Given the description of an element on the screen output the (x, y) to click on. 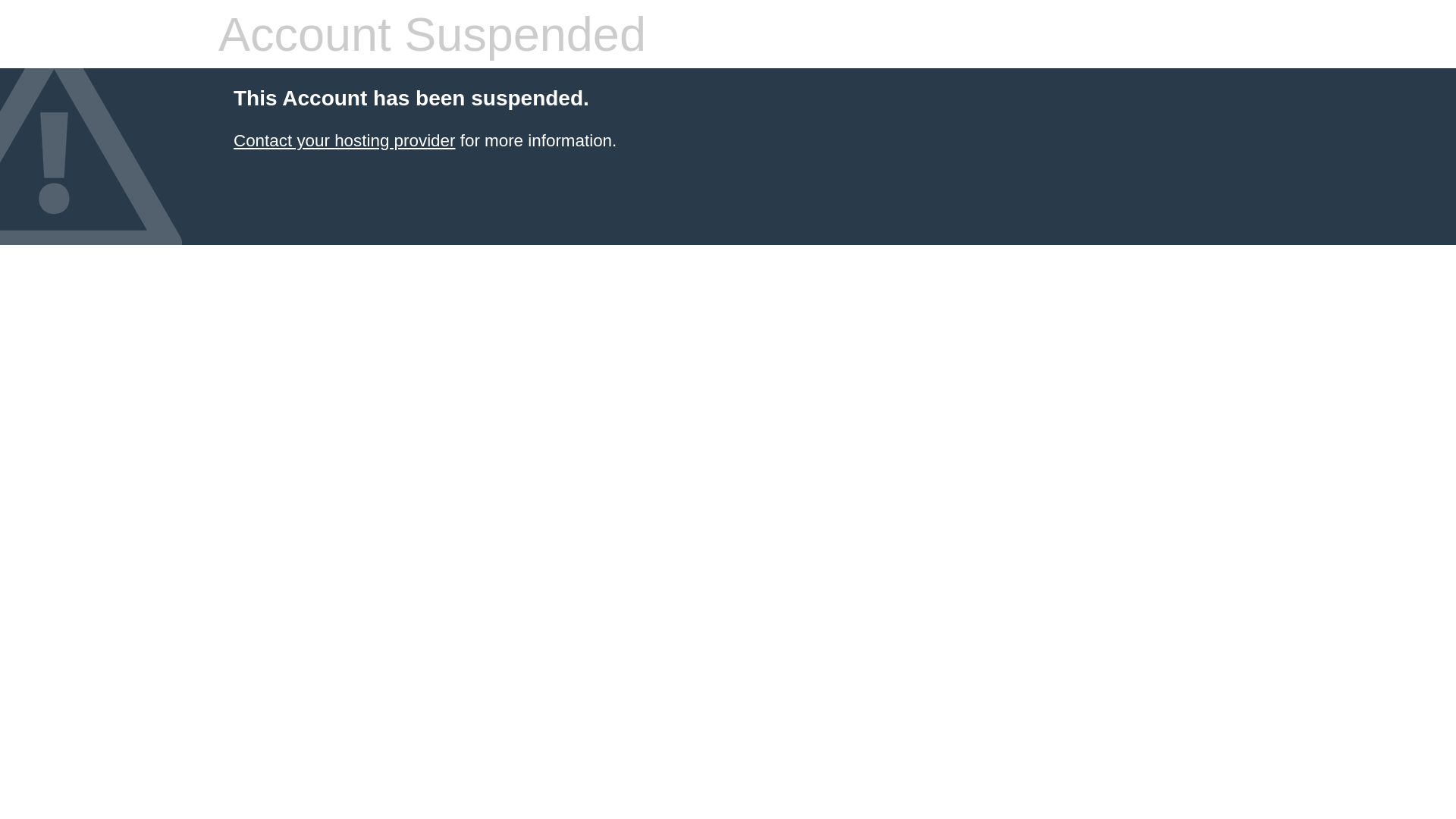
Contact your hosting provider Element type: text (344, 140)
